Given the description of an element on the screen output the (x, y) to click on. 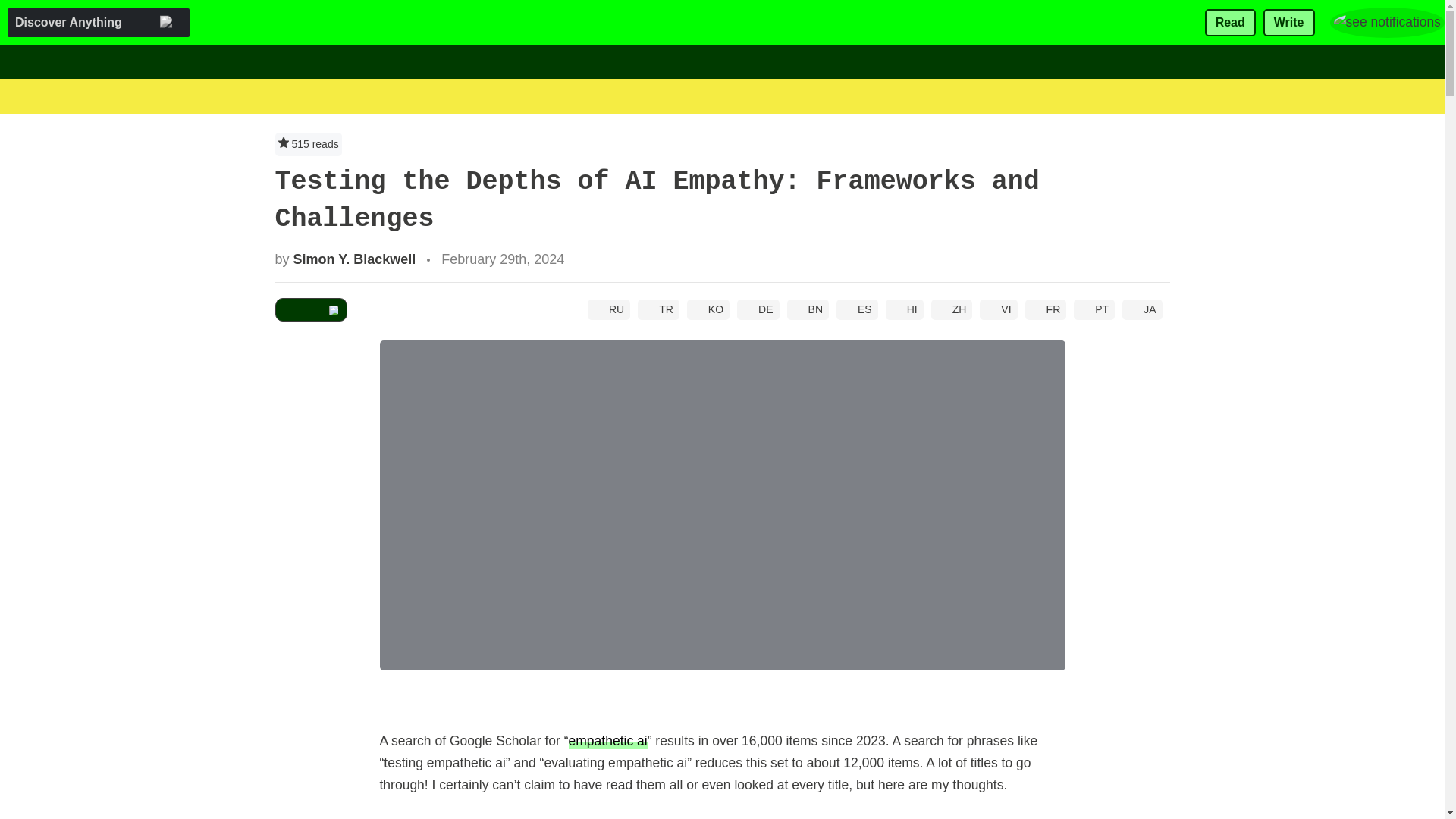
BN (807, 309)
JA (1141, 309)
ZH (951, 309)
Write (1288, 22)
PT (1094, 309)
TR (658, 309)
Simon Y. Blackwell (355, 258)
Read (1230, 22)
DE (757, 309)
RU (609, 309)
HI (904, 309)
KO (708, 309)
VI (997, 309)
FR (1046, 309)
empathetic ai (608, 740)
